Given the description of an element on the screen output the (x, y) to click on. 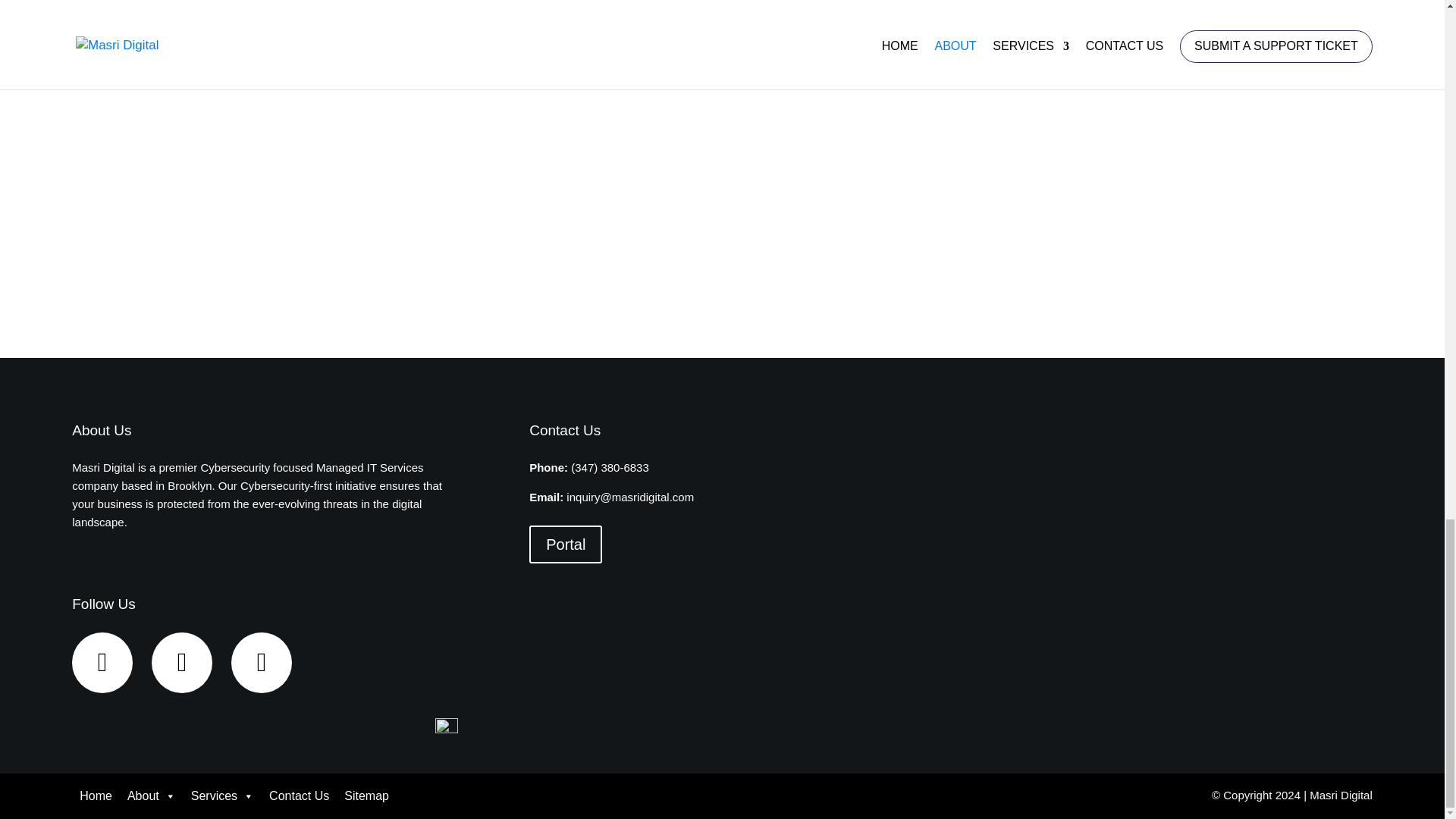
Sitemap (366, 796)
About (151, 796)
Opens in a new window (1340, 794)
Masri Digital (1340, 794)
Contact Us (299, 796)
Portal (565, 544)
Services (222, 796)
Home (95, 796)
